Given the description of an element on the screen output the (x, y) to click on. 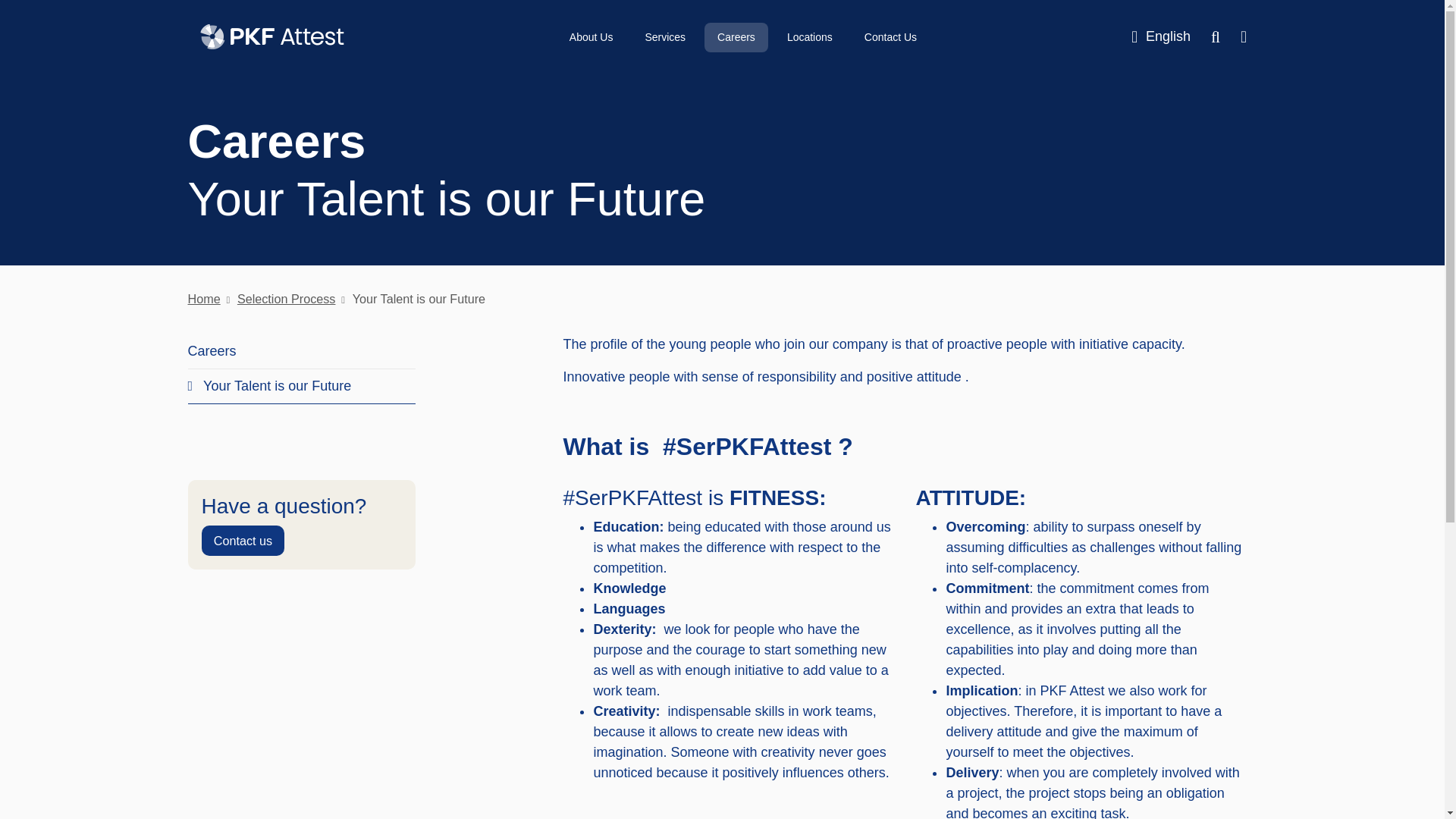
About Us (591, 37)
PKF Attest (272, 37)
Home (204, 298)
Locations (809, 37)
Services (664, 37)
Careers (211, 350)
Your Talent is our Future (269, 385)
English (1160, 36)
Contact Us (890, 37)
Locations (809, 37)
Services (664, 37)
Contact us (243, 540)
Contact Us (890, 37)
Careers (736, 37)
Selection Process (279, 298)
